Given the description of an element on the screen output the (x, y) to click on. 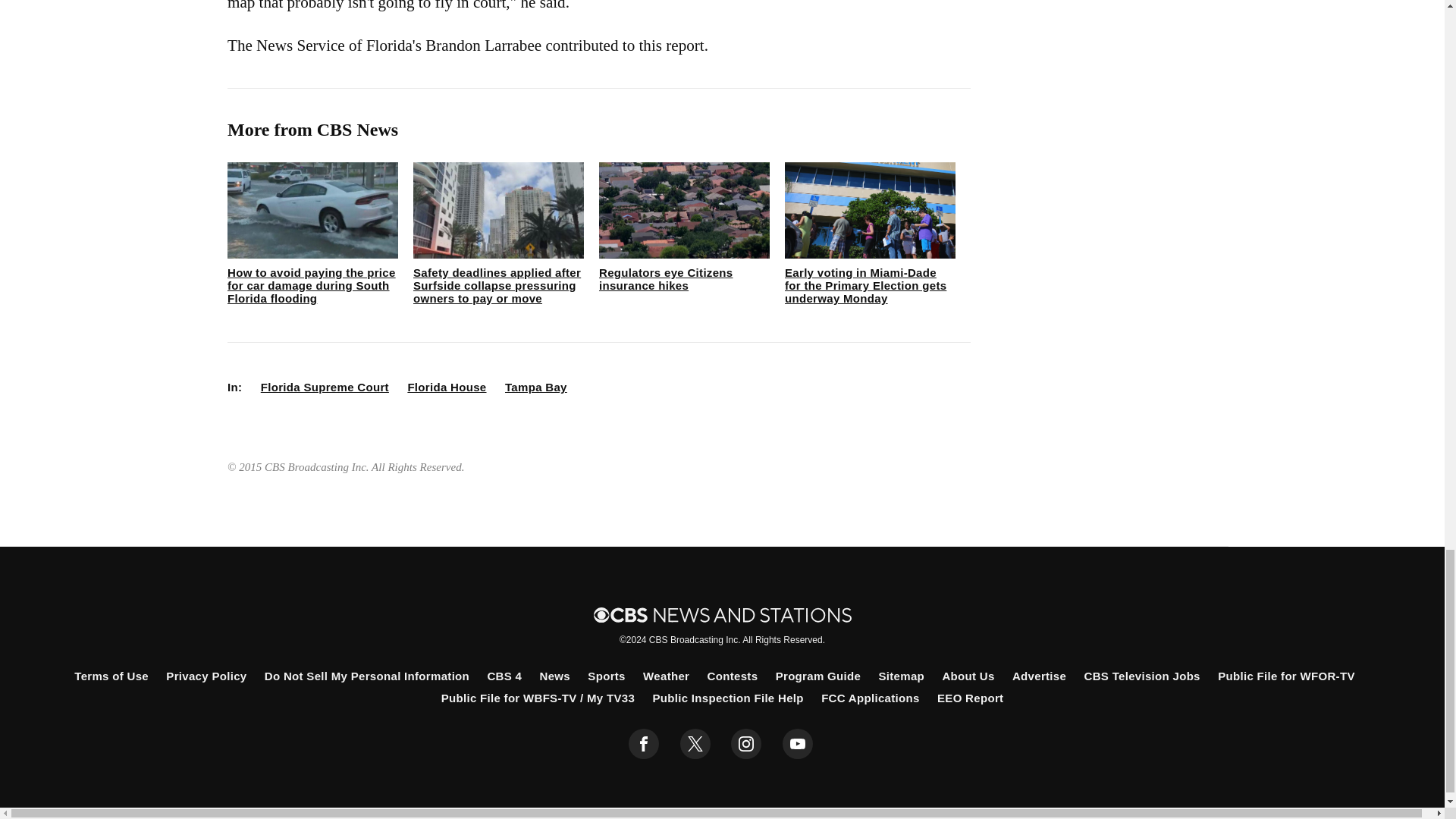
twitter (694, 743)
facebook (643, 743)
instagram (745, 743)
youtube (797, 743)
